Given the description of an element on the screen output the (x, y) to click on. 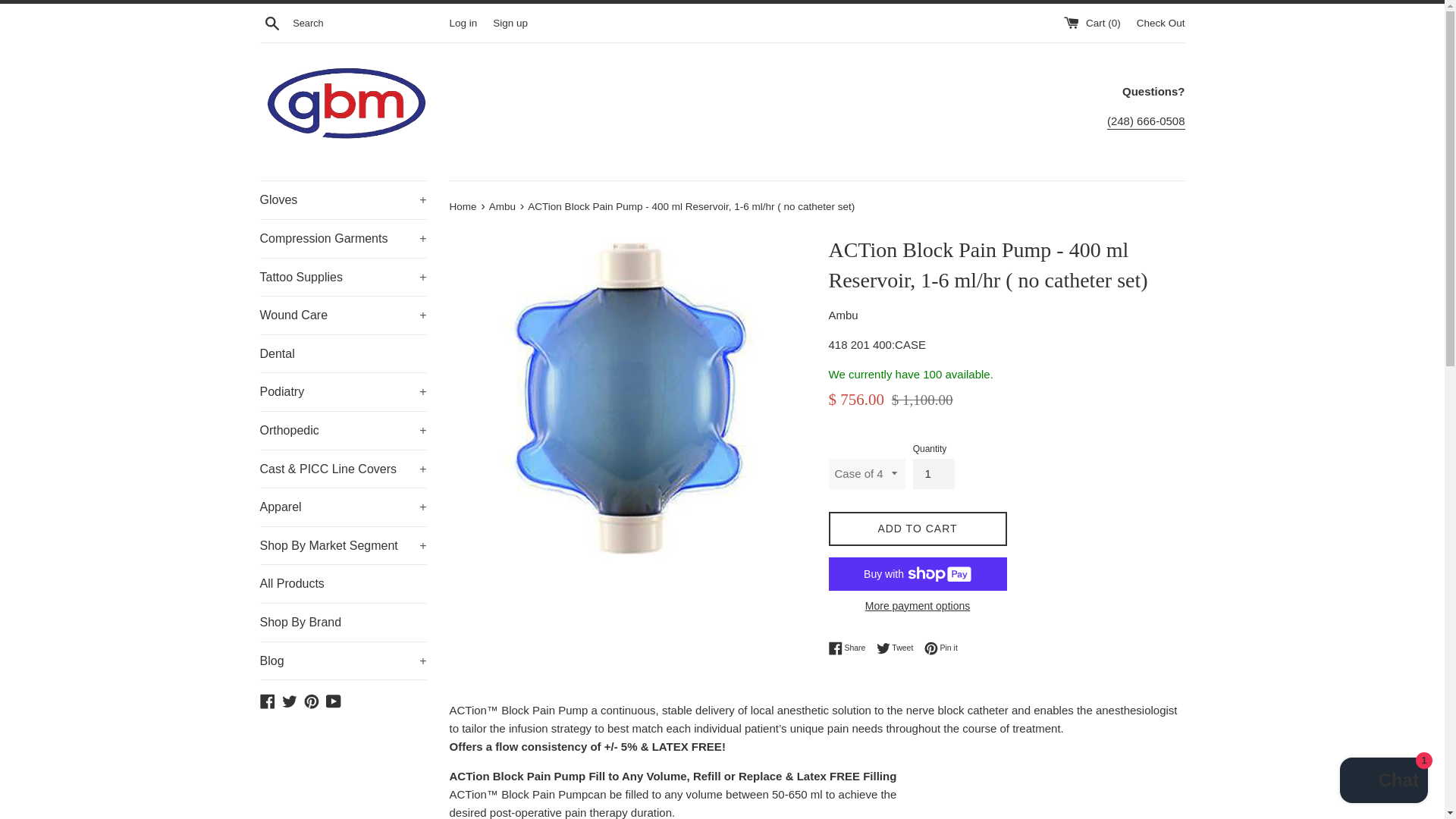
GoBioMed on Facebook (267, 699)
Back to the frontpage (463, 206)
Shopping Cart (1093, 21)
Pin on Pinterest (941, 648)
Check Out (1161, 21)
Sign up (510, 21)
GoBioMed on Pinterest (311, 699)
GoBioMed on Twitter (289, 699)
Tweet on Twitter (898, 648)
Log in (462, 21)
Shopify online store chat (1383, 781)
GoBioMed on YouTube (333, 699)
1 (933, 473)
Share on Facebook (850, 648)
Dental (342, 353)
